Given the description of an element on the screen output the (x, y) to click on. 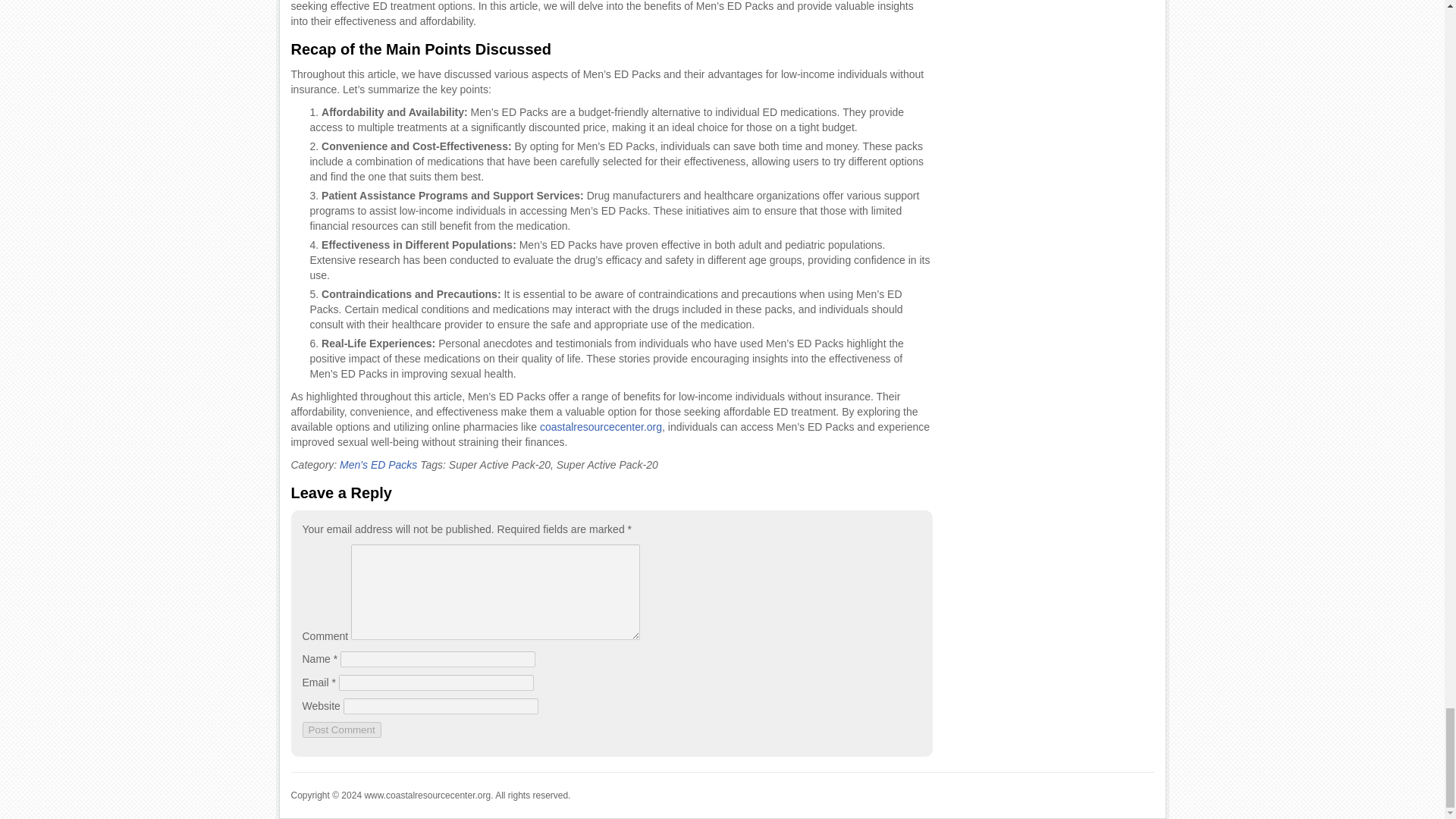
Men's ED Packs (377, 464)
Post Comment (340, 729)
coastalresourcecenter.org (601, 426)
Post Comment (340, 729)
